Given the description of an element on the screen output the (x, y) to click on. 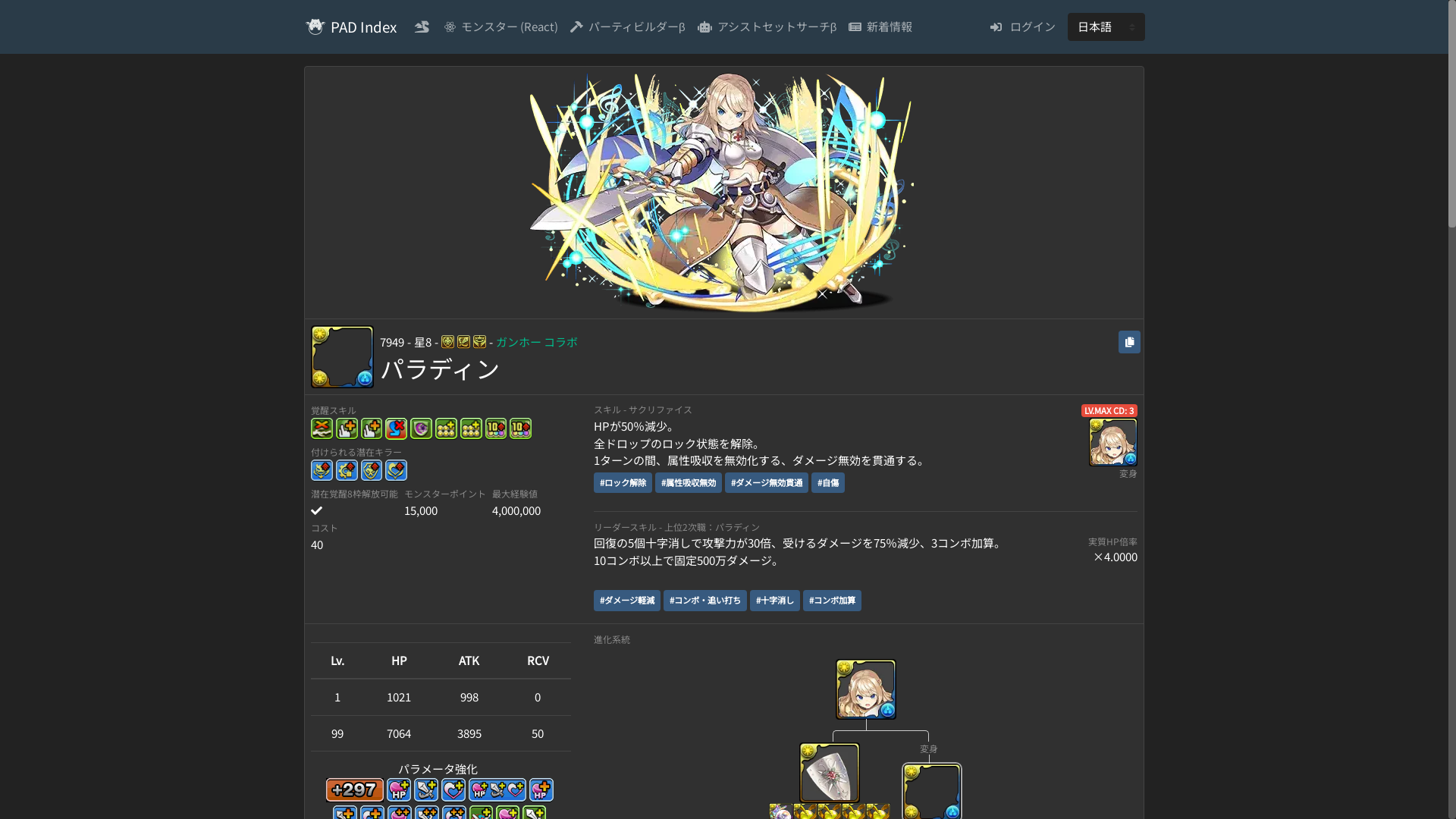
PAD Index Element type: text (363, 26)
